Given the description of an element on the screen output the (x, y) to click on. 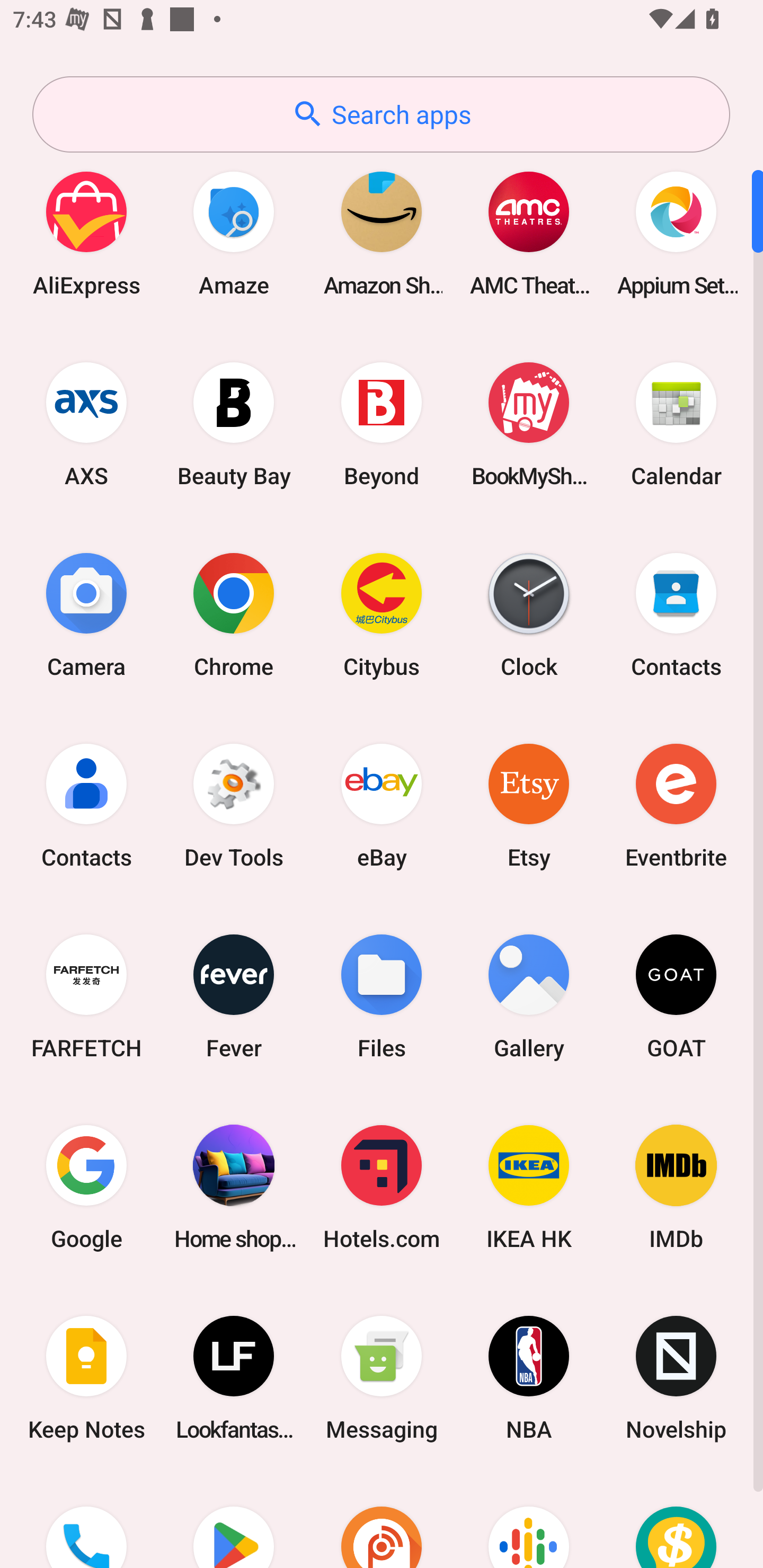
  Search apps (381, 114)
AliExpress (86, 233)
Amaze (233, 233)
Amazon Shopping (381, 233)
AMC Theatres (528, 233)
Appium Settings (676, 233)
AXS (86, 424)
Beauty Bay (233, 424)
Beyond (381, 424)
BookMyShow (528, 424)
Calendar (676, 424)
Camera (86, 614)
Chrome (233, 614)
Citybus (381, 614)
Clock (528, 614)
Contacts (676, 614)
Contacts (86, 805)
Dev Tools (233, 805)
eBay (381, 805)
Etsy (528, 805)
Eventbrite (676, 805)
FARFETCH (86, 996)
Fever (233, 996)
Files (381, 996)
Gallery (528, 996)
GOAT (676, 996)
Google (86, 1186)
Home shopping (233, 1186)
Hotels.com (381, 1186)
IKEA HK (528, 1186)
IMDb (676, 1186)
Keep Notes (86, 1377)
Lookfantastic (233, 1377)
Messaging (381, 1377)
NBA (528, 1377)
Novelship (676, 1377)
Phone (86, 1520)
Play Store (233, 1520)
Podcast Addict (381, 1520)
Podcasts (528, 1520)
Price (676, 1520)
